Given the description of an element on the screen output the (x, y) to click on. 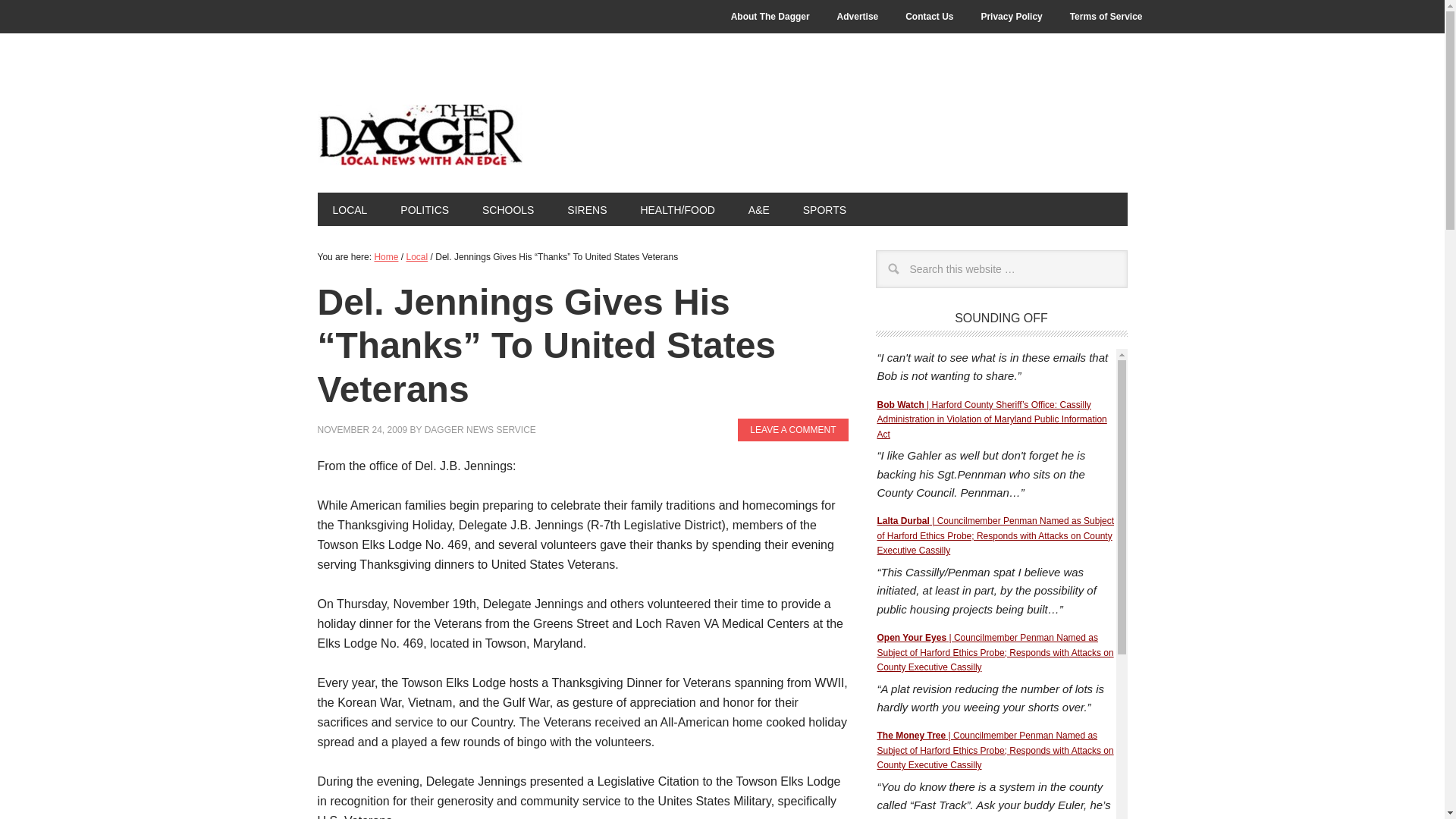
Local (349, 209)
LEAVE A COMMENT (792, 429)
Local (417, 256)
SCHOOLS (507, 209)
Sports (824, 209)
Privacy Policy (1011, 16)
Politics (424, 209)
Terms of Service (1106, 16)
POLITICS (424, 209)
